Given the description of an element on the screen output the (x, y) to click on. 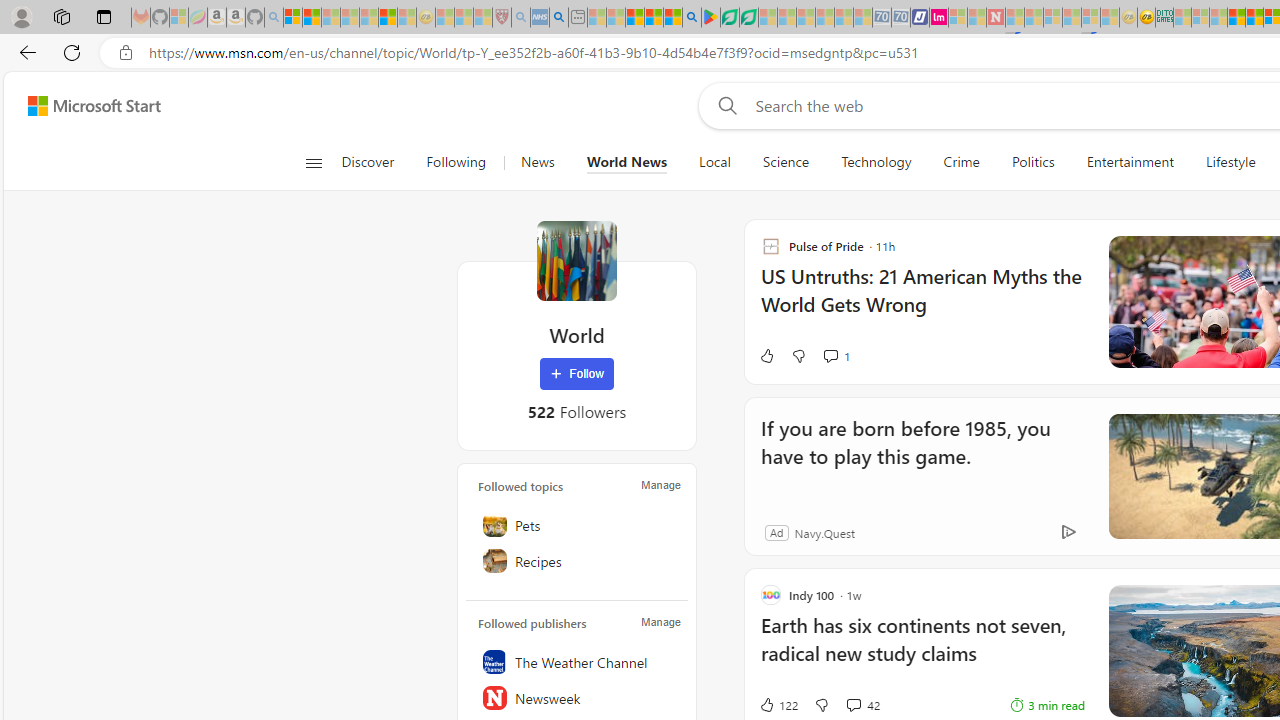
Pets - MSN (654, 17)
Technology (876, 162)
View comments 42 Comment (852, 704)
Terms of Use Agreement (729, 17)
Entertainment (1129, 162)
Expert Portfolios (1236, 17)
